Given the description of an element on the screen output the (x, y) to click on. 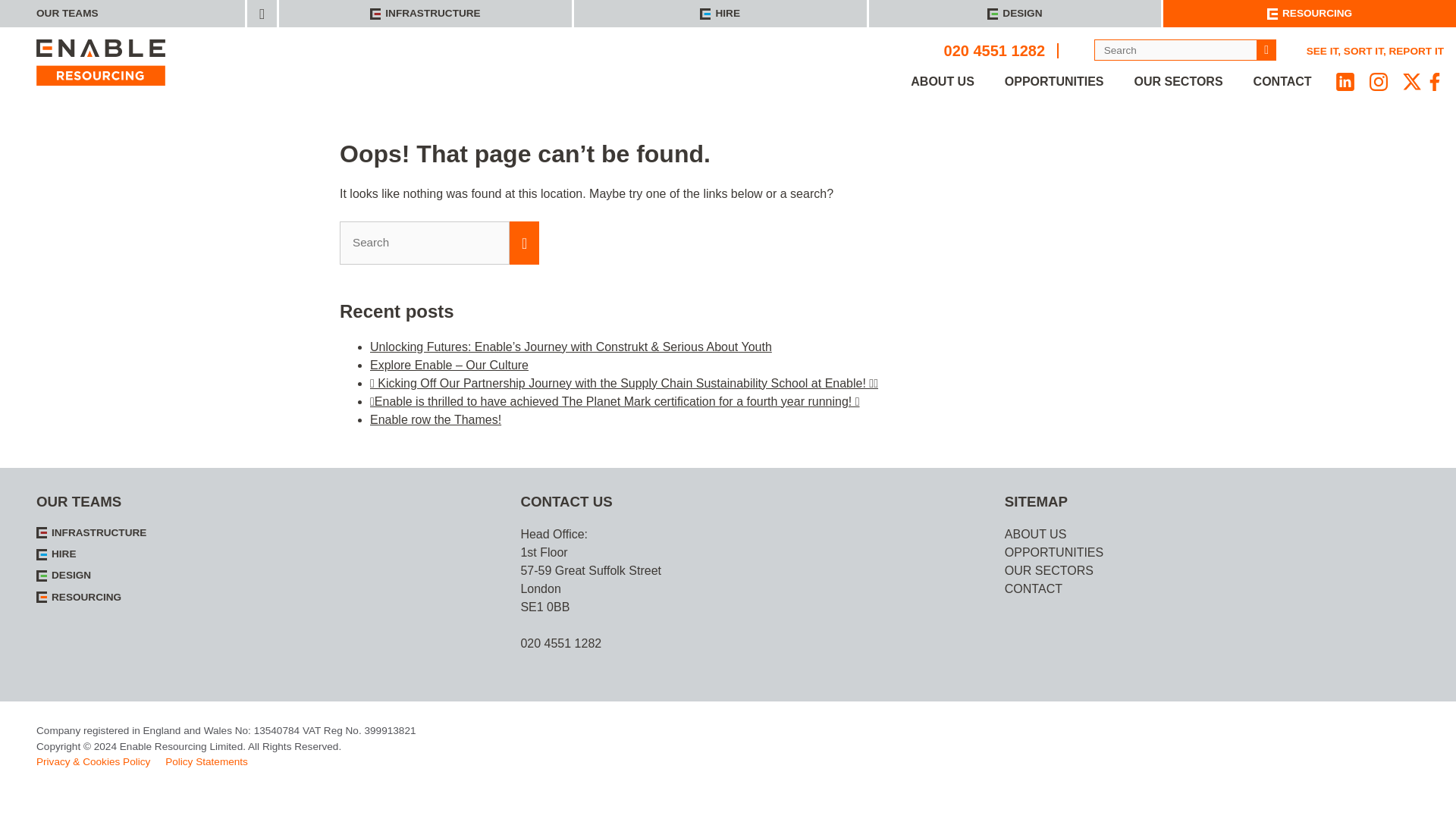
TWITTER (1412, 81)
LINKED IN (1345, 81)
FACEBOOK (1434, 81)
Go (1266, 49)
SEE IT, SORT IT, REPORT IT (1375, 51)
ABOUT US (942, 81)
CONTACT (1282, 81)
DESIGN (1013, 13)
020 4551 1282 (1000, 50)
OUR SECTORS (1178, 81)
